Given the description of an element on the screen output the (x, y) to click on. 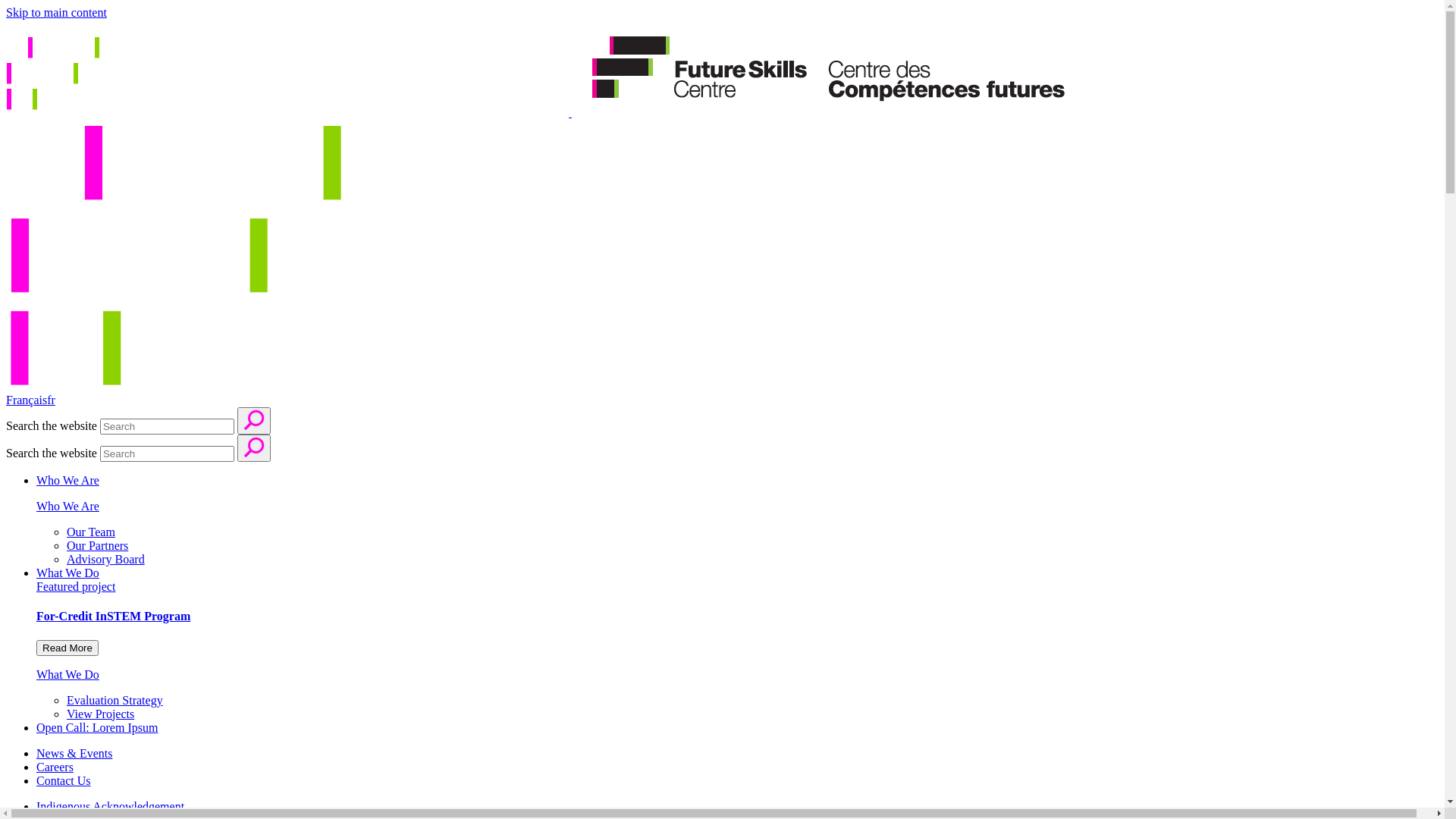
fr Element type: text (51, 399)
View Projects Element type: text (100, 713)
Evaluation Strategy Element type: text (114, 699)
News & Events Element type: text (74, 752)
What We Do Element type: text (67, 674)
Featured project
For-Credit InSTEM Program Element type: text (737, 616)
Advisory Board Element type: text (105, 558)
Who We Are Element type: text (67, 505)
Indigenous Acknowledgement Element type: text (110, 806)
Who We Are Element type: text (67, 479)
Contact Us Element type: text (63, 780)
Search Created with Sketch. Element type: text (253, 420)
Open Call: Lorem Ipsum Element type: text (96, 727)
What We Do Element type: text (67, 572)
Search Created with Sketch. Element type: text (253, 447)
Our Partners Element type: text (97, 545)
Our Team Element type: text (90, 531)
Read More Element type: text (67, 647)
Skip to main content Element type: text (56, 12)
Careers Element type: text (54, 766)
